Given the description of an element on the screen output the (x, y) to click on. 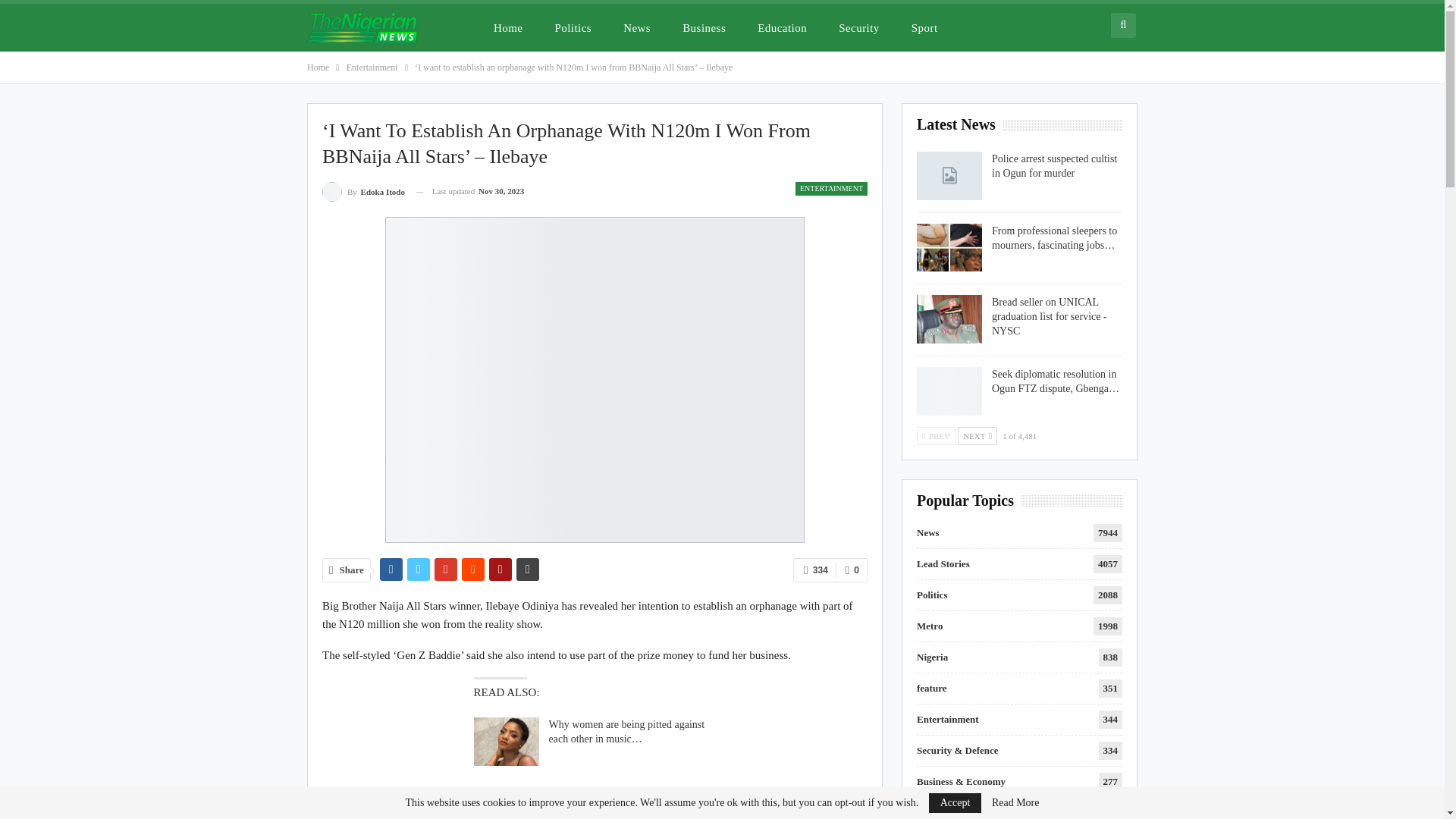
Sport (924, 27)
Education (781, 27)
Entertainment (371, 67)
Business (703, 27)
Politics (572, 27)
Browse Author Articles (362, 190)
News (636, 27)
ENTERTAINMENT (830, 188)
Advertisement (594, 792)
Home (318, 67)
